Given the description of an element on the screen output the (x, y) to click on. 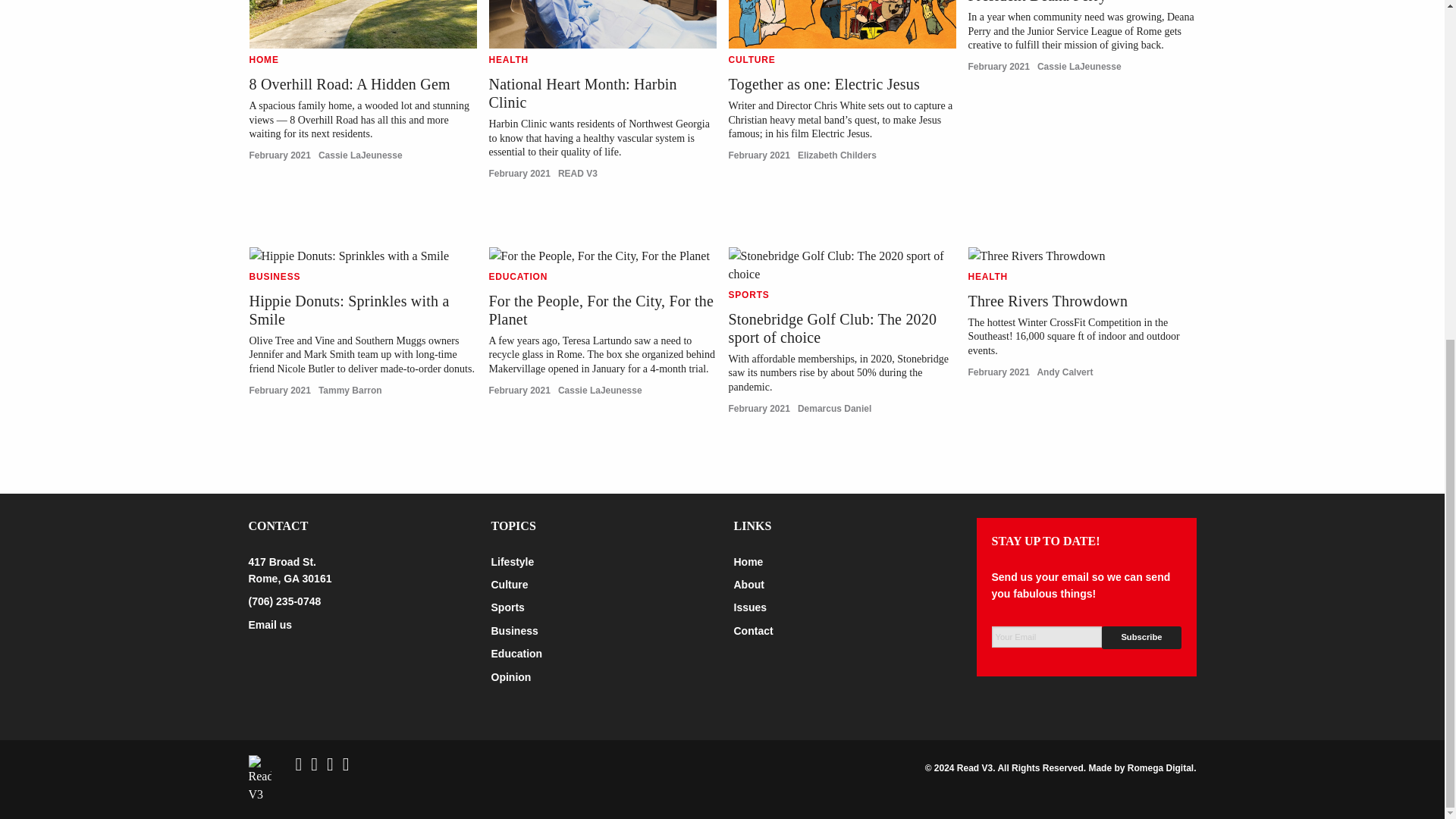
Subscribe (1141, 637)
National Heart Month: Harbin Clinic (582, 93)
8 Overhill Road: A Hidden Gem (348, 84)
